Given the description of an element on the screen output the (x, y) to click on. 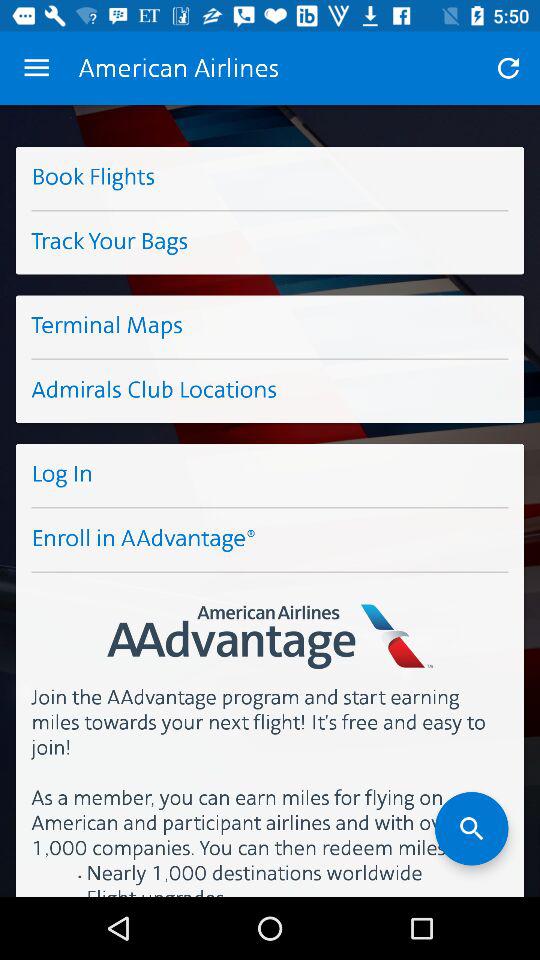
open log in icon (269, 475)
